Given the description of an element on the screen output the (x, y) to click on. 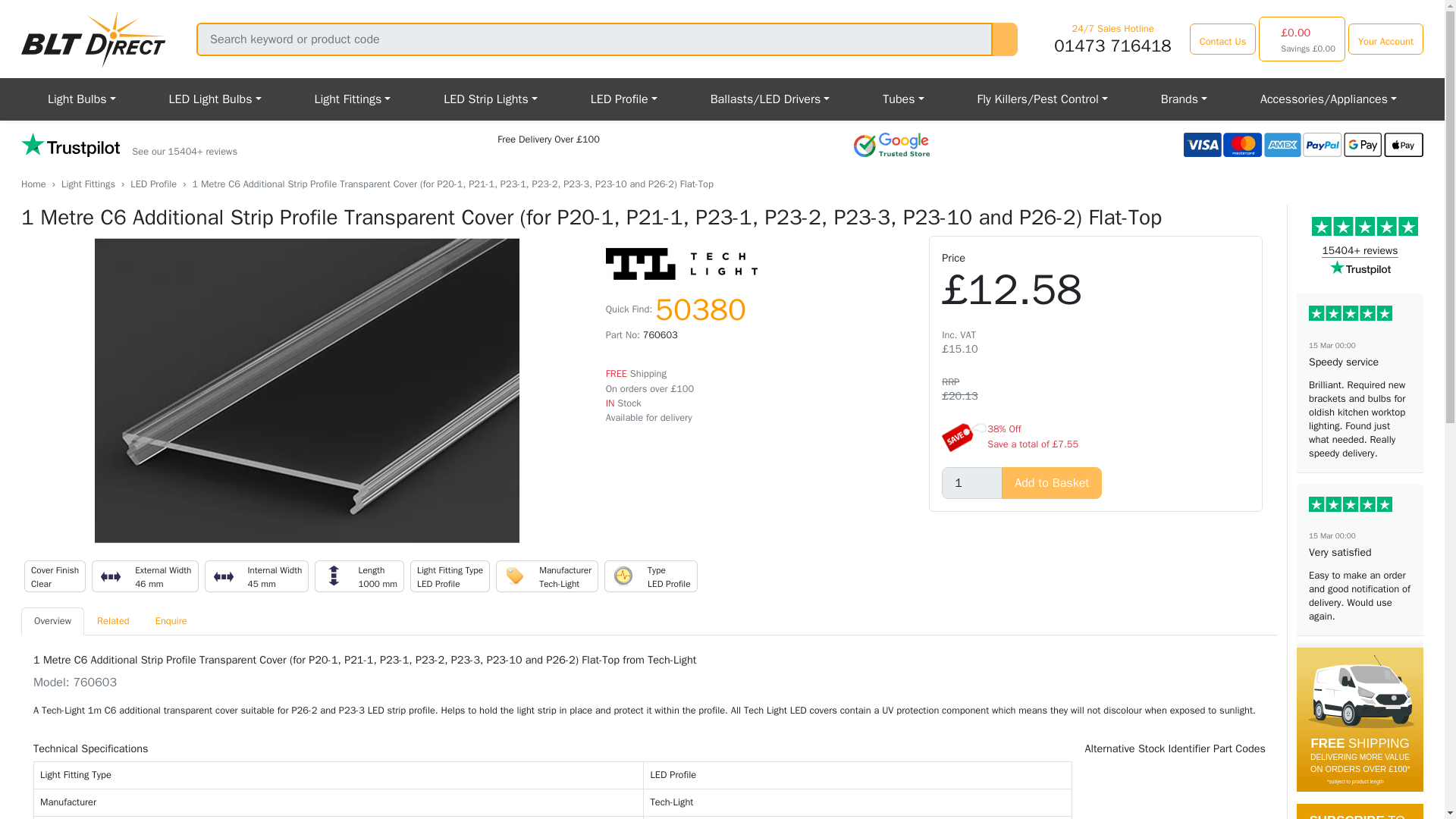
Related (113, 621)
LED Strip Lights (489, 99)
Light Bulbs (81, 99)
Add to Basket (1051, 482)
1 (972, 482)
01473 716418 (1112, 45)
Light Fittings (88, 184)
Tubes (903, 99)
LED Profile (624, 99)
Light Bulbs (81, 99)
Add to Basket (1051, 482)
Google Trust Store (891, 143)
Light Fittings (351, 99)
LED Light Bulbs (215, 99)
Enquire (171, 621)
